Given the description of an element on the screen output the (x, y) to click on. 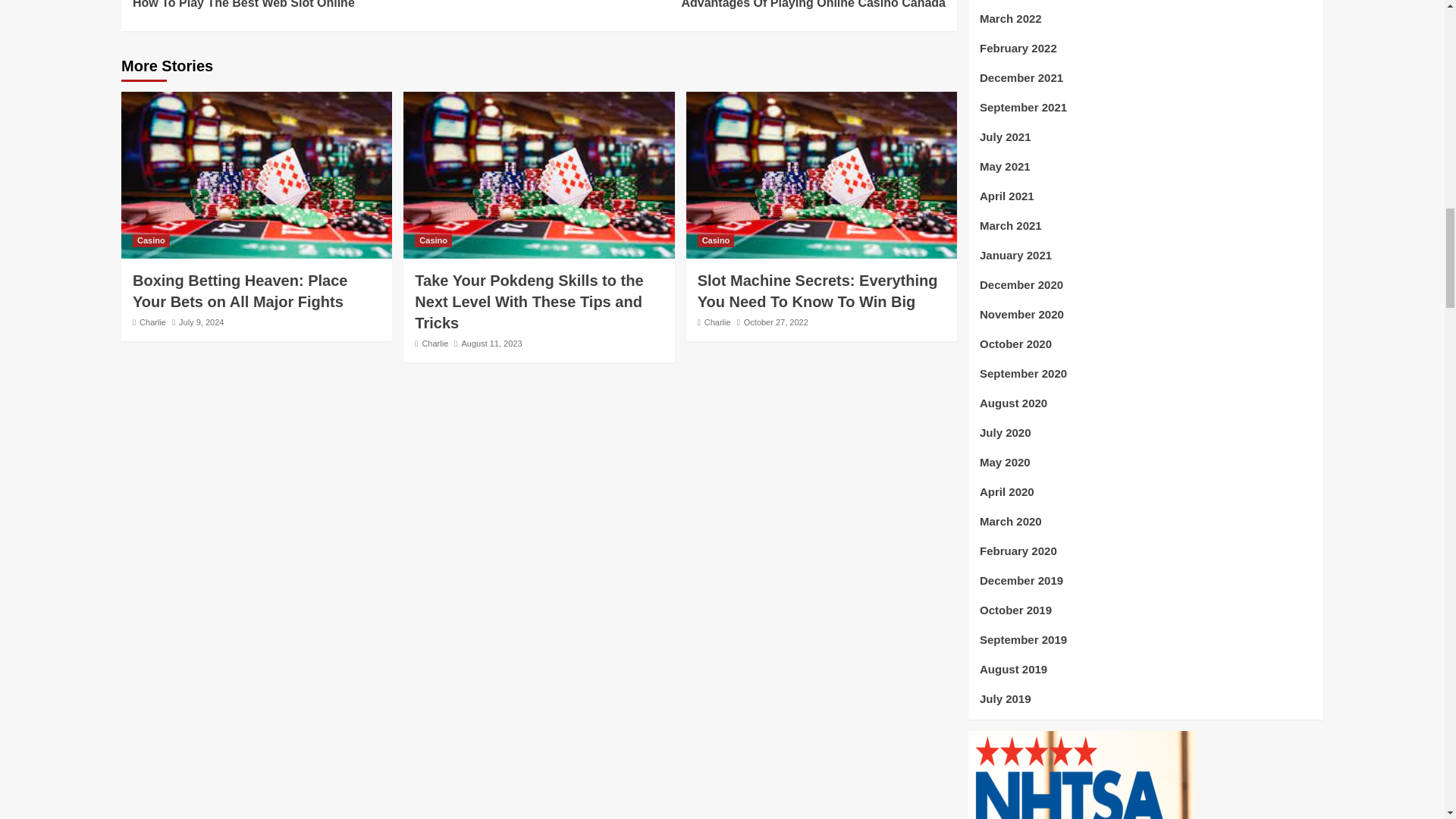
August 11, 2023 (491, 343)
Casino (716, 240)
Charlie (152, 321)
July 9, 2024 (201, 321)
Charlie (741, 6)
Slot Machine Secrets: Everything You Need To Know To Win Big (435, 343)
Boxing Betting Heaven: Place Your Bets on All Major Fights (817, 290)
Casino (239, 290)
